Given the description of an element on the screen output the (x, y) to click on. 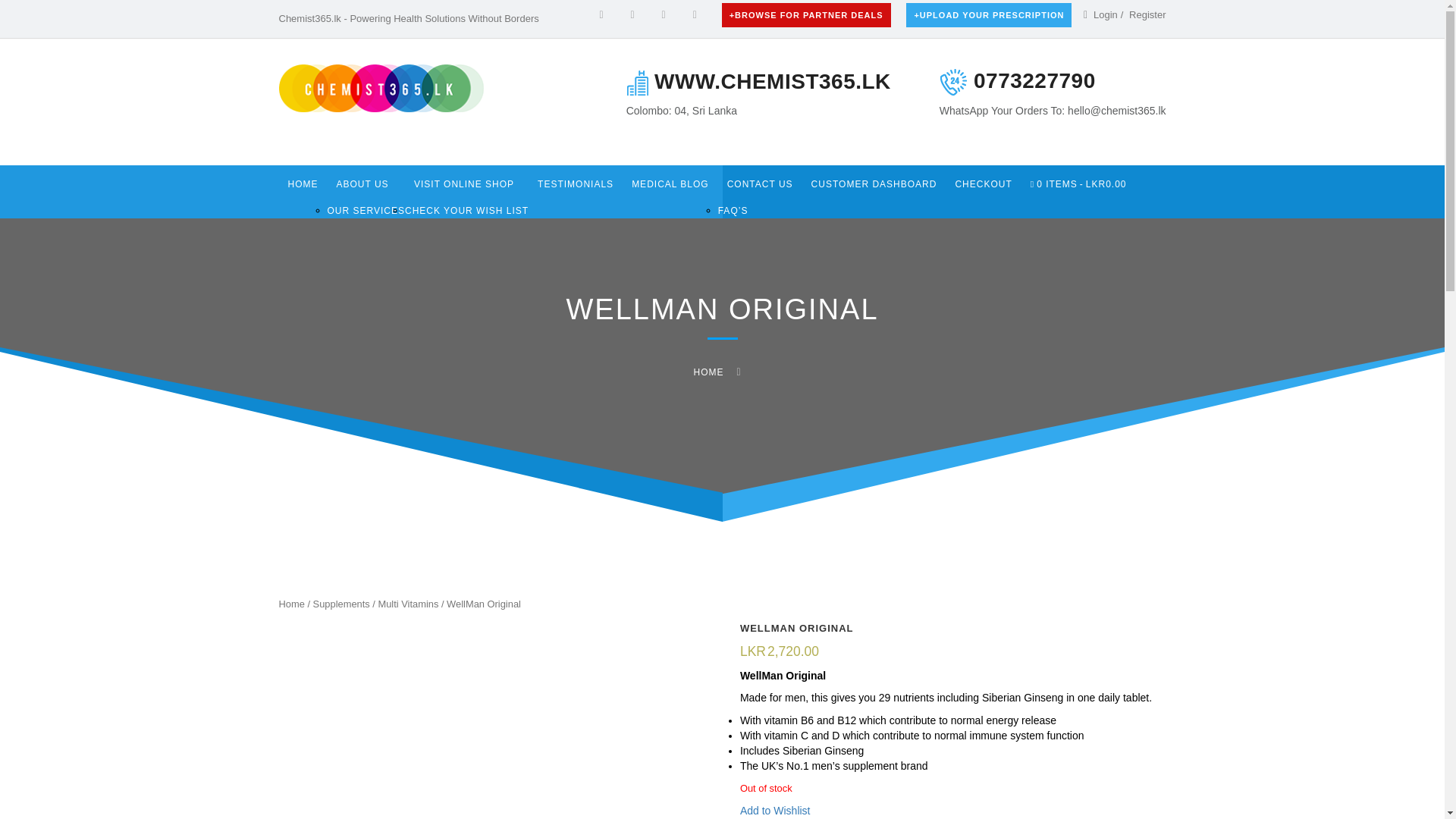
CHECK YOUR WISH LIST (466, 210)
HOME (708, 371)
0 ITEMSLKR0.00 (1078, 184)
Supplements (341, 603)
Home (291, 603)
Login (1147, 14)
Login (1105, 14)
TESTIMONIALS (575, 184)
Partner Deals (806, 15)
OUR SERVICES (365, 210)
Multi Vitamins (407, 603)
Start shopping (1078, 184)
HOME (303, 184)
ABOUT US (365, 184)
CONTACT US (759, 184)
